Given the description of an element on the screen output the (x, y) to click on. 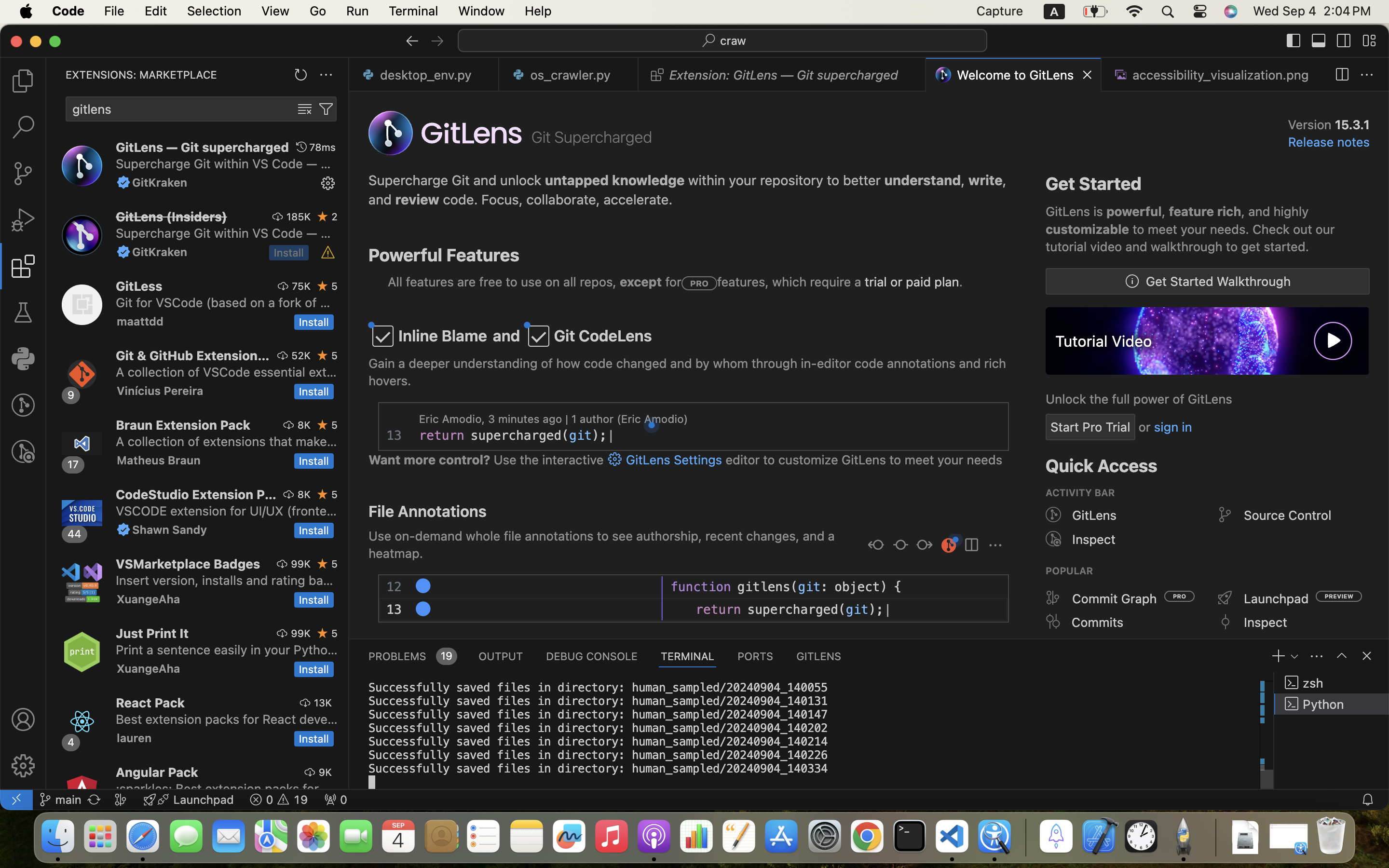
Inline Blame Element type: AXStaticText (442, 335)
0 DEBUG CONSOLE Element type: AXRadioButton (591, 655)
Git & GitHub Extension Pack Element type: AXStaticText (192, 355)
Vinícius Pereira Element type: AXStaticText (159, 390)
9K Element type: AXStaticText (324, 771)
